Given the description of an element on the screen output the (x, y) to click on. 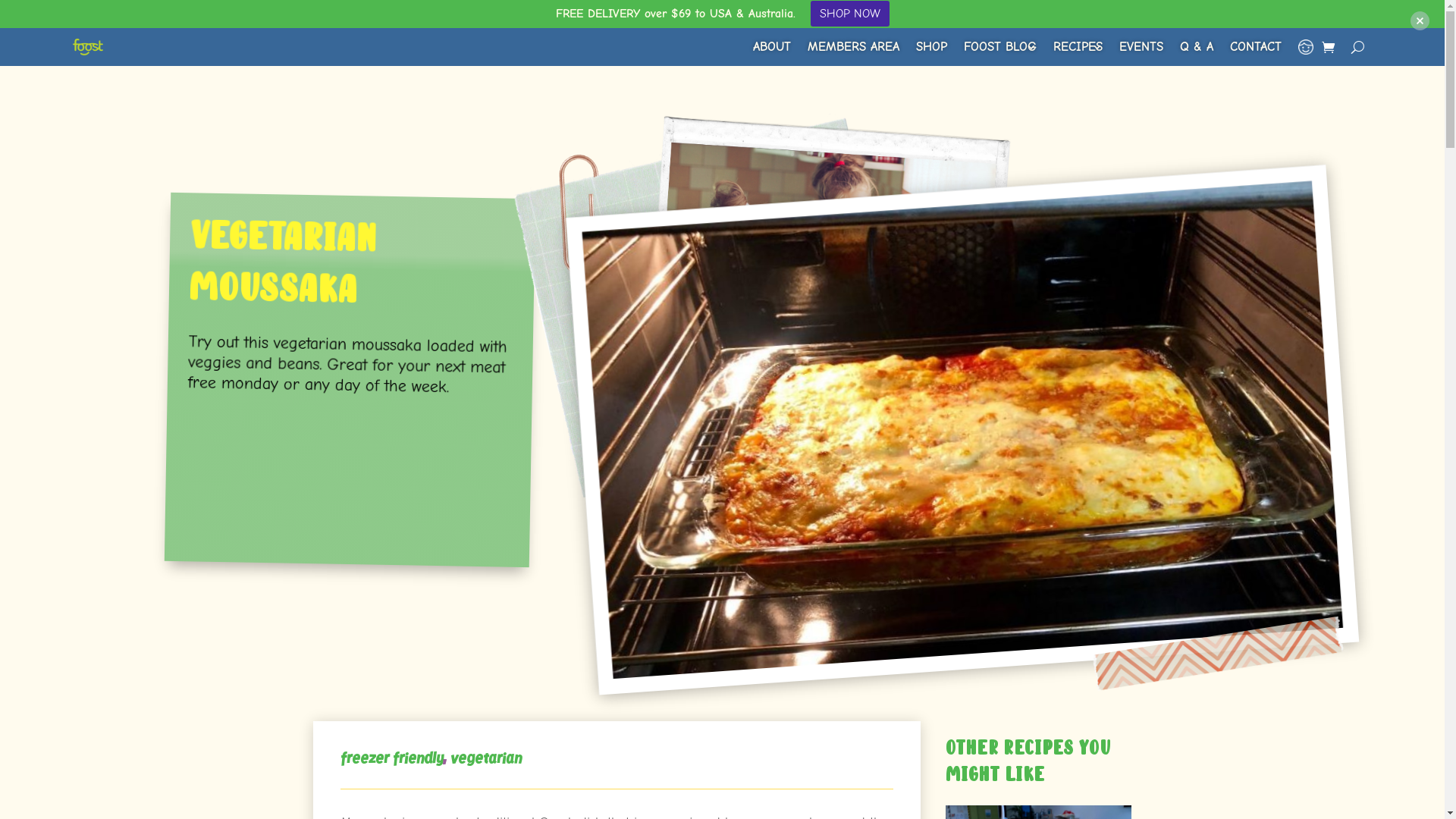
FOOST BLOG Element type: text (999, 46)
CONTACT Element type: text (1255, 46)
SHOP NOW Element type: text (848, 13)
vegetarian Element type: text (485, 758)
MEMBERS AREA Element type: text (853, 46)
RECIPES Element type: text (1077, 46)
Q & A Element type: text (1196, 46)
SHOP Element type: text (931, 46)
freezer friendly Element type: text (390, 758)
washi tape Element type: hover (1204, 632)
vegetarian moussaka Element type: hover (913, 384)
ABOUT Element type: text (771, 46)
EVENTS Element type: text (1141, 46)
